Given the description of an element on the screen output the (x, y) to click on. 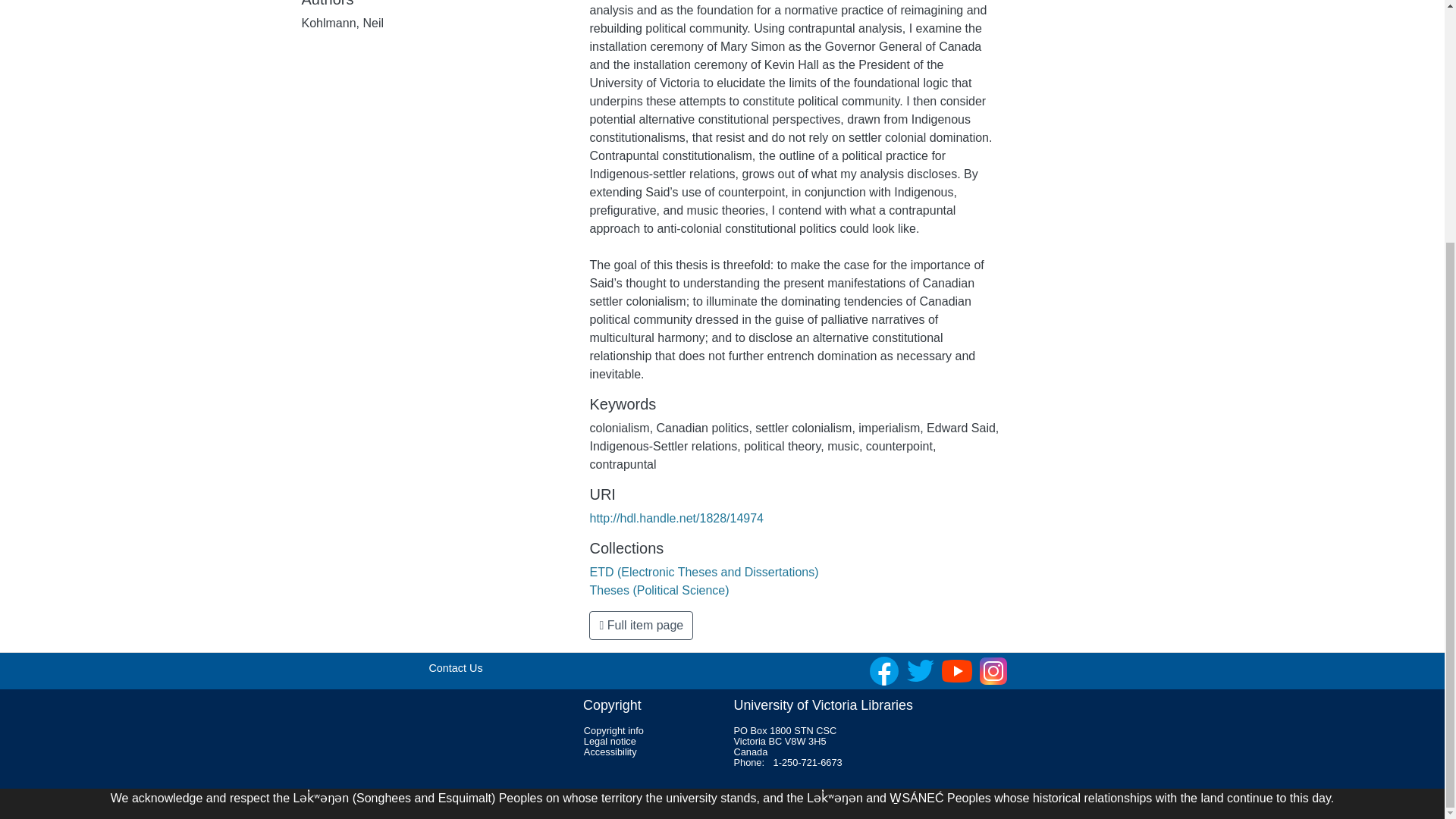
Contact Us (454, 667)
Full item page (641, 624)
